Given the description of an element on the screen output the (x, y) to click on. 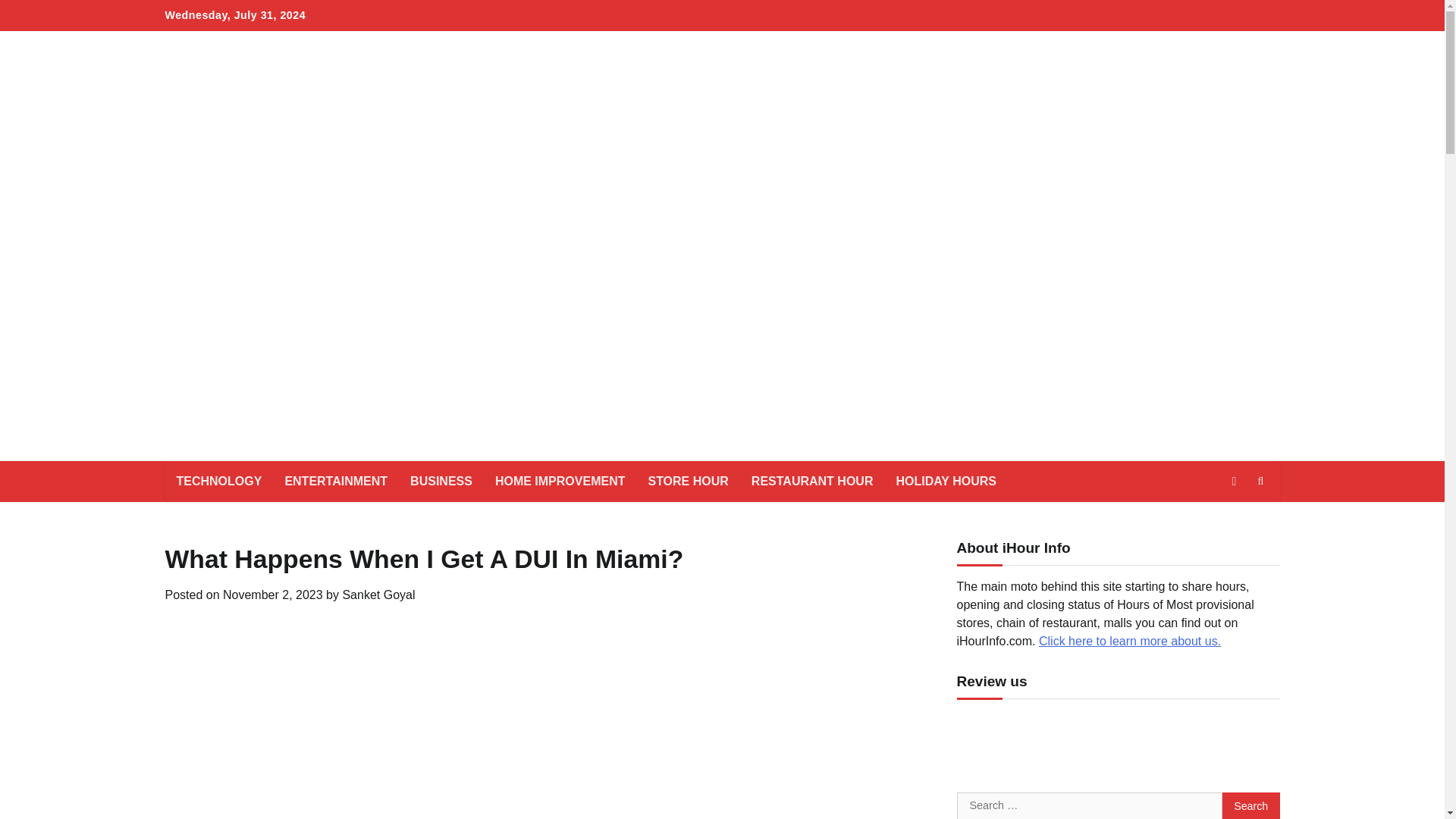
HOME IMPROVEMENT (560, 481)
Search (1251, 805)
November 2, 2023 (272, 594)
RESTAURANT HOUR (812, 481)
TECHNOLOGY (219, 481)
STORE HOUR (687, 481)
BUSINESS (440, 481)
Sanket Goyal (378, 594)
HOLIDAY HOURS (945, 481)
Search (1260, 481)
Search (1251, 805)
View Random Post (1233, 481)
ENTERTAINMENT (335, 481)
Search (1232, 516)
